Given the description of an element on the screen output the (x, y) to click on. 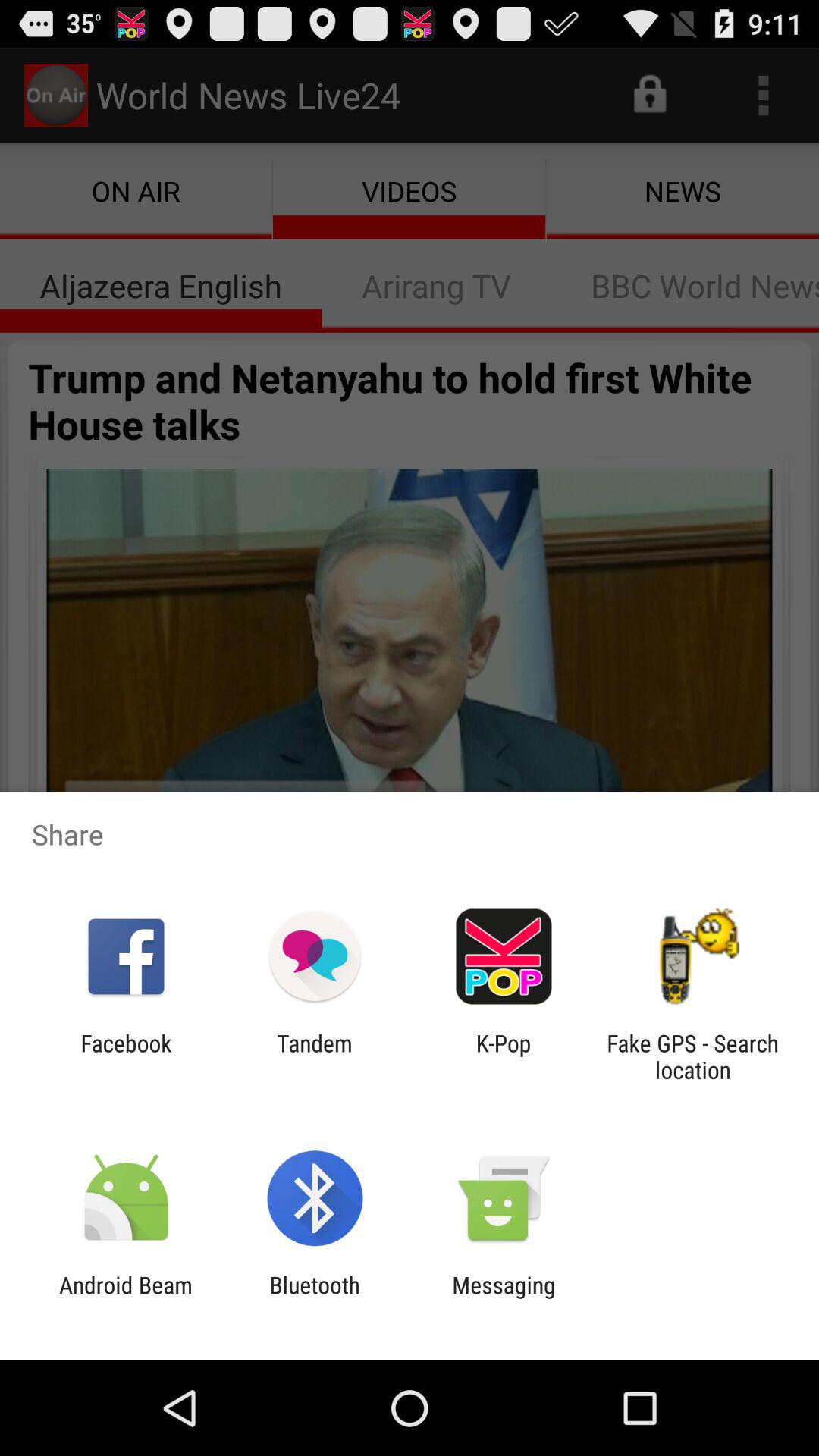
click icon next to k-pop icon (692, 1056)
